Given the description of an element on the screen output the (x, y) to click on. 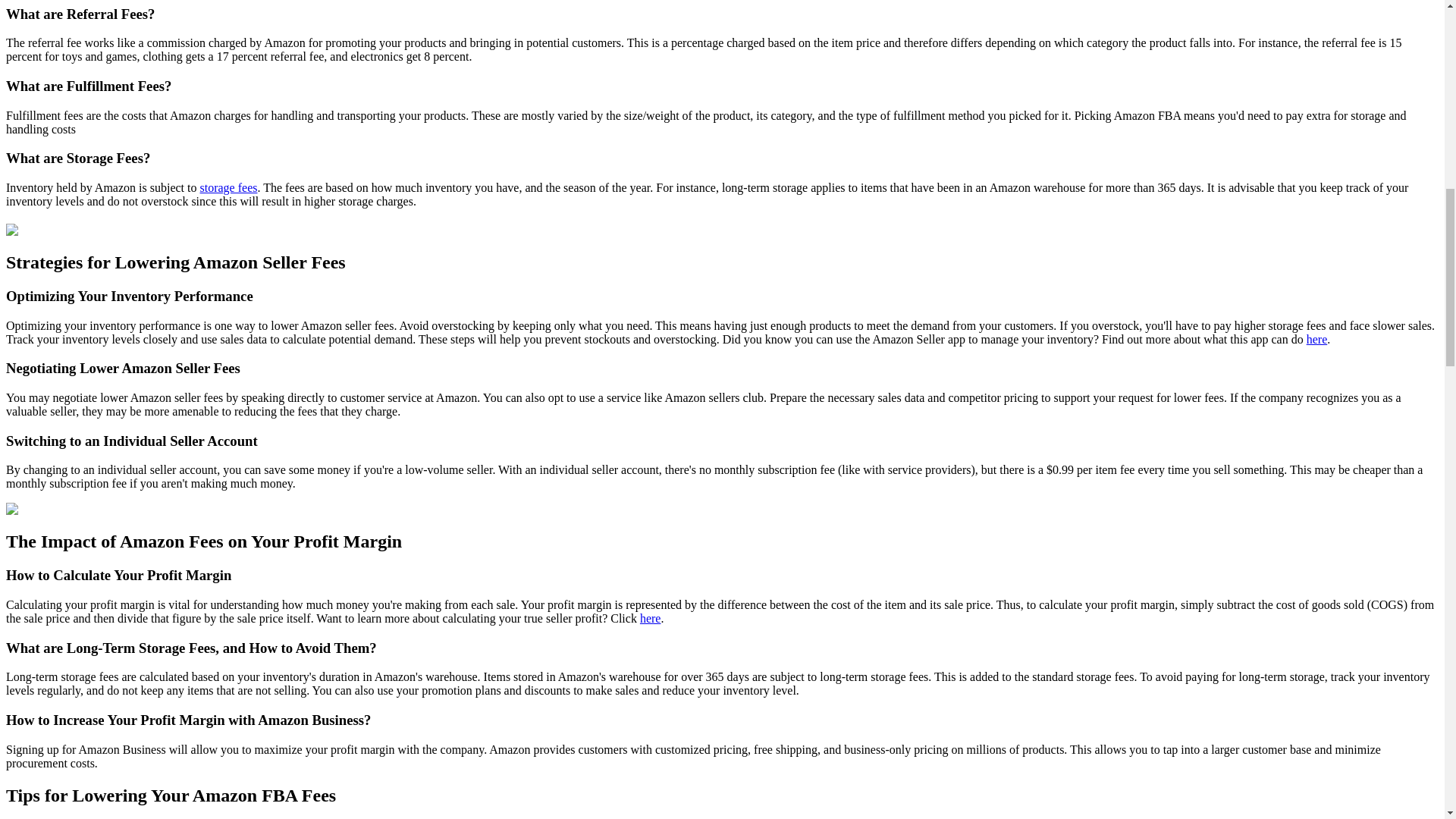
here (650, 617)
here (1316, 338)
storage fees (228, 187)
